Given the description of an element on the screen output the (x, y) to click on. 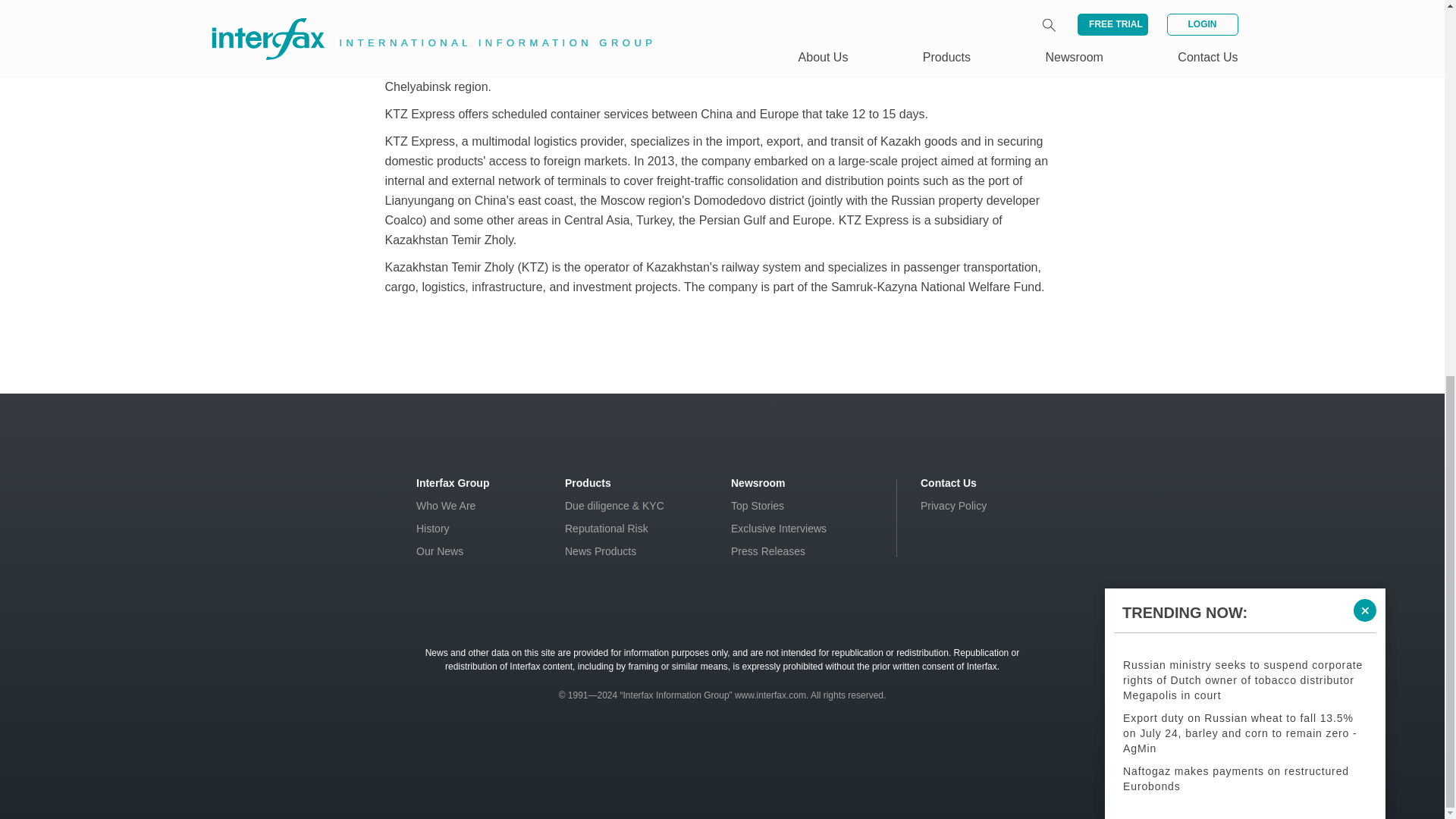
Interfax Group (452, 482)
Our News (439, 551)
History (432, 528)
Who We Are (446, 505)
